Given the description of an element on the screen output the (x, y) to click on. 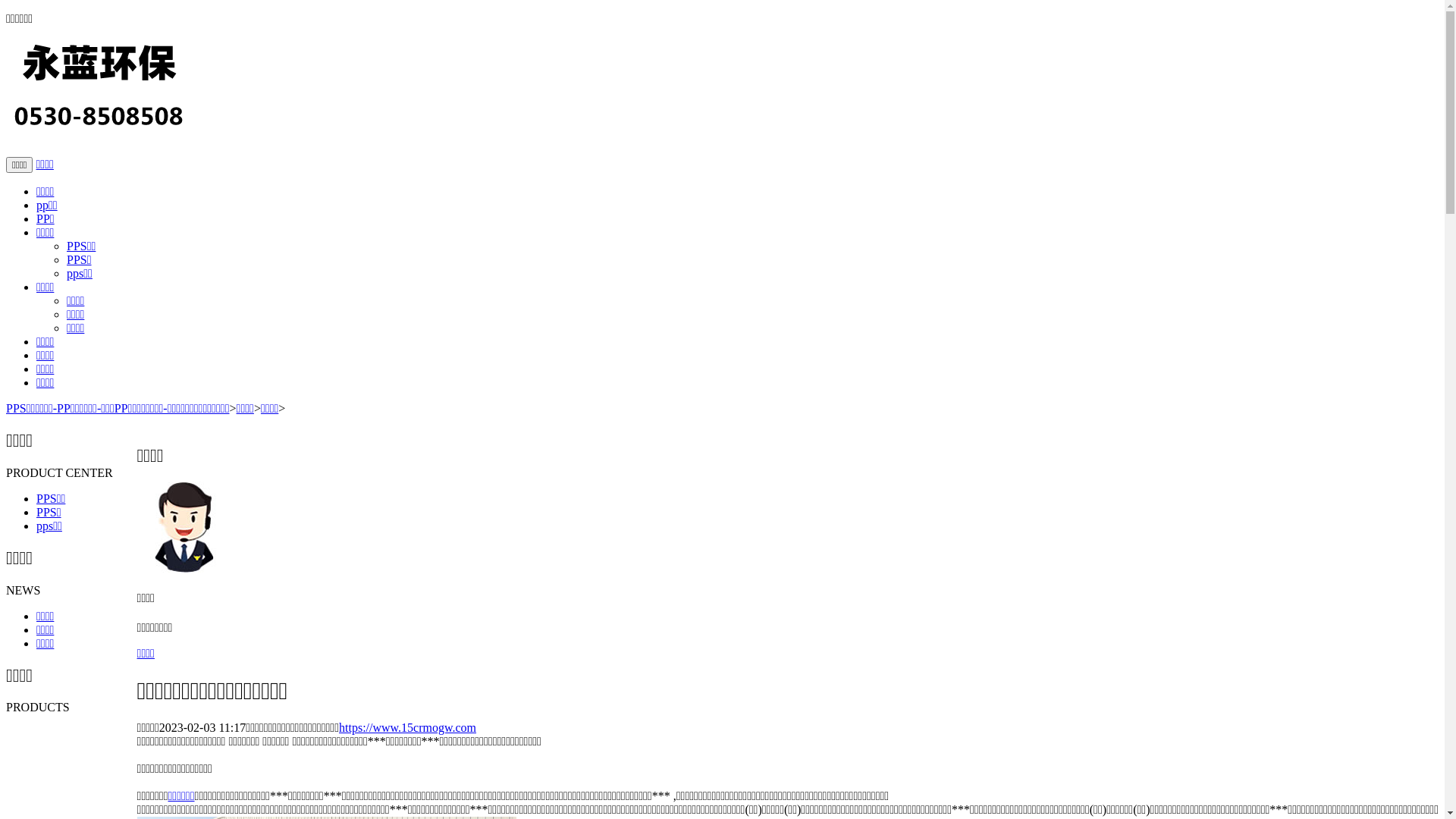
https://www.15crmogw.com Element type: text (407, 727)
